Given the description of an element on the screen output the (x, y) to click on. 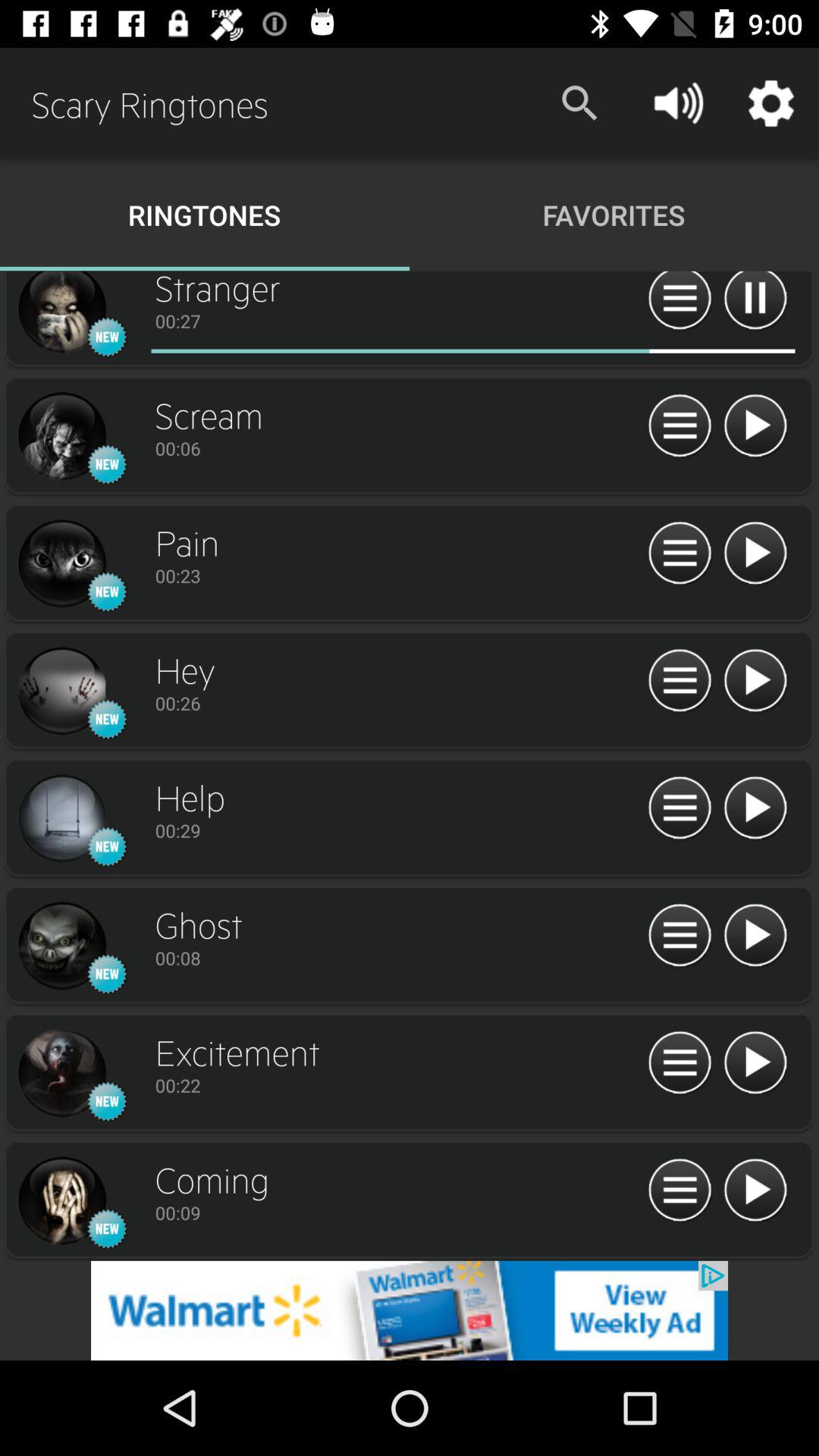
play (755, 553)
